Given the description of an element on the screen output the (x, y) to click on. 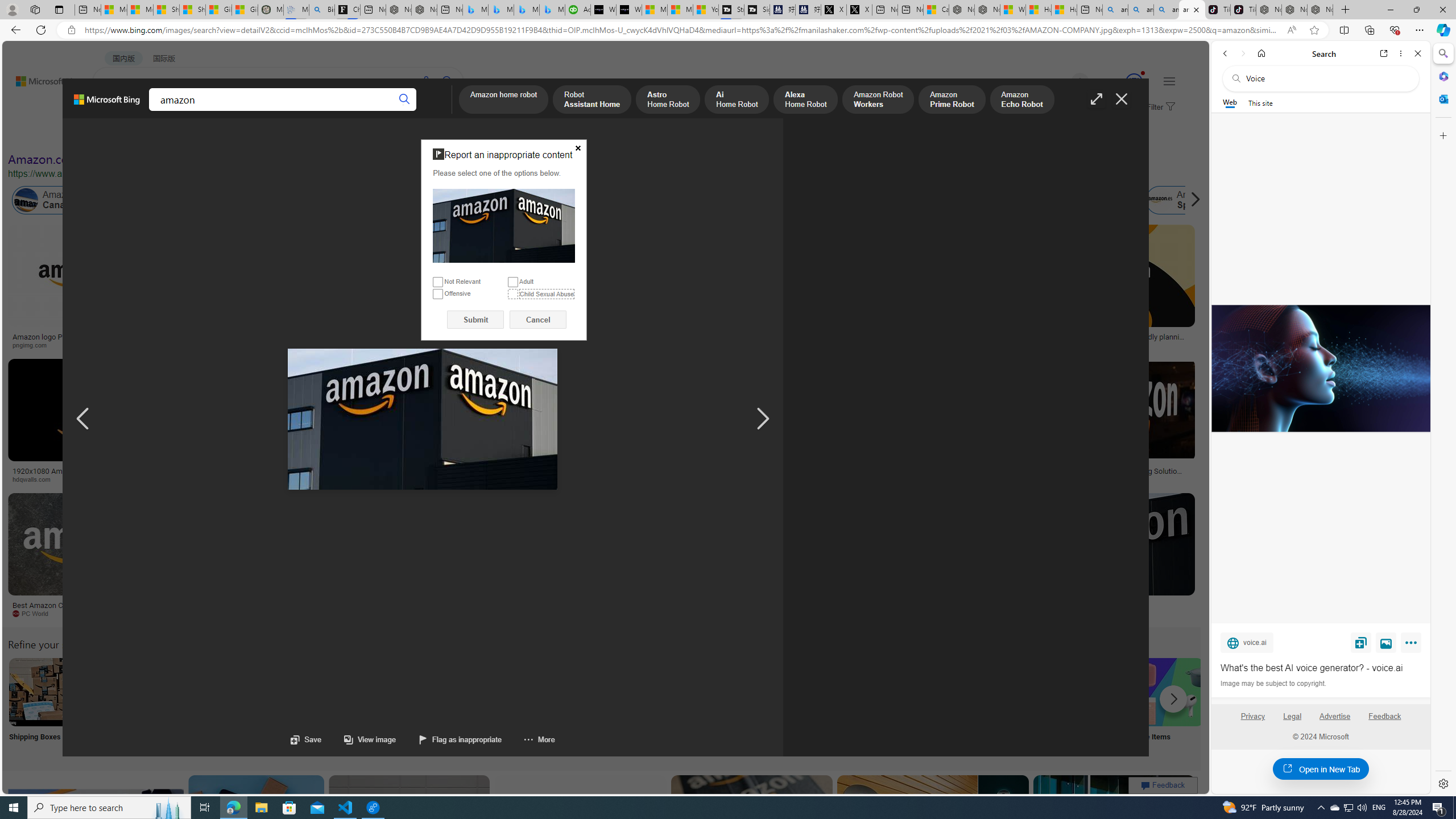
Shipping Boxes (42, 706)
Type (212, 135)
aiophotoz.com (378, 613)
Close image (1121, 99)
Amazon Shoes (1079, 200)
